Given the description of an element on the screen output the (x, y) to click on. 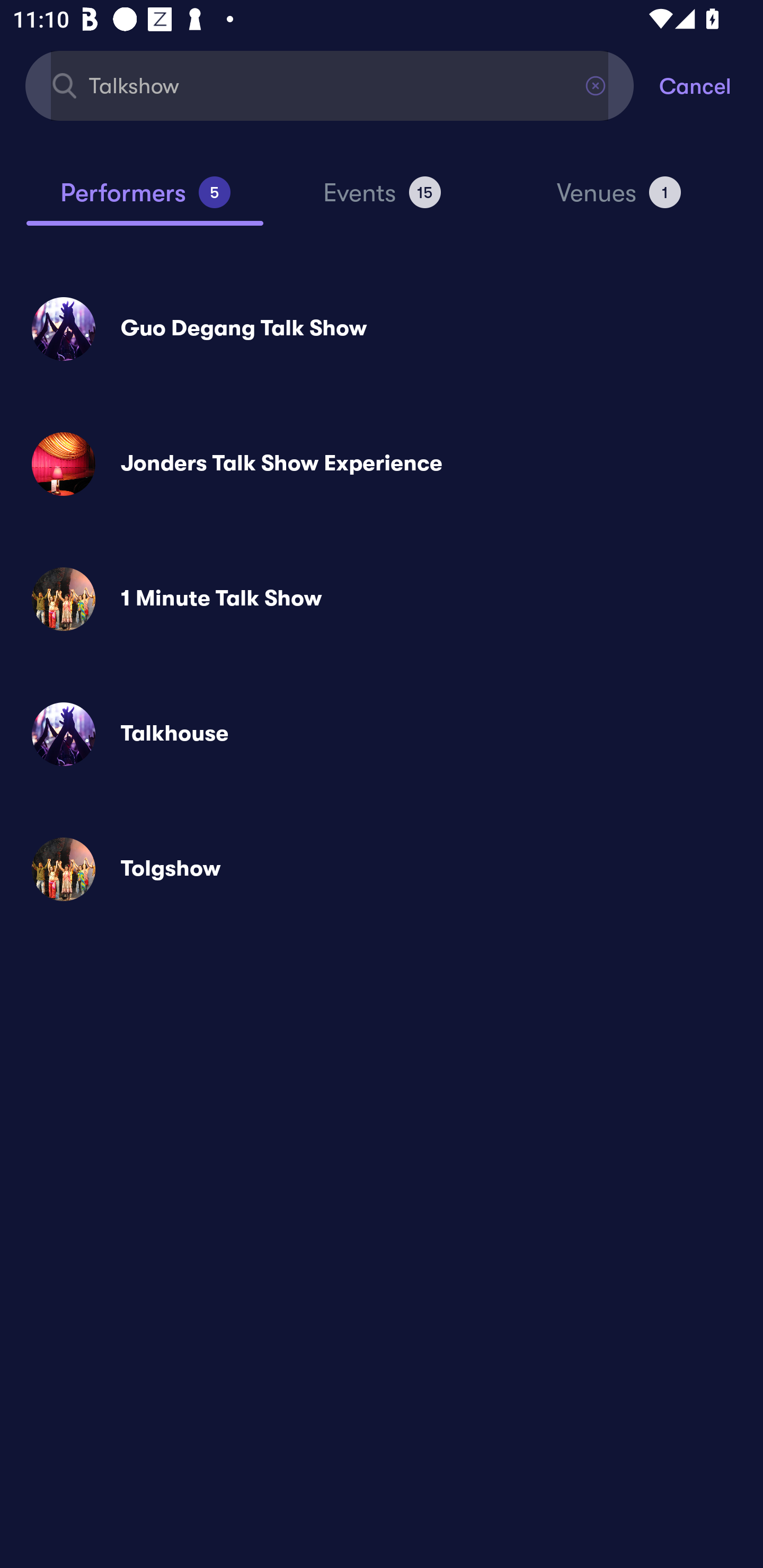
Talkshow Find (329, 85)
Talkshow Find (329, 85)
Cancel (711, 85)
Performers 5 (144, 200)
Events 15 (381, 200)
Venues 1 (618, 200)
Guo Degang Talk Show (381, 328)
Jonders Talk Show Experience (381, 464)
1 Minute Talk Show (381, 598)
Talkhouse (381, 734)
Tolgshow (381, 869)
